Given the description of an element on the screen output the (x, y) to click on. 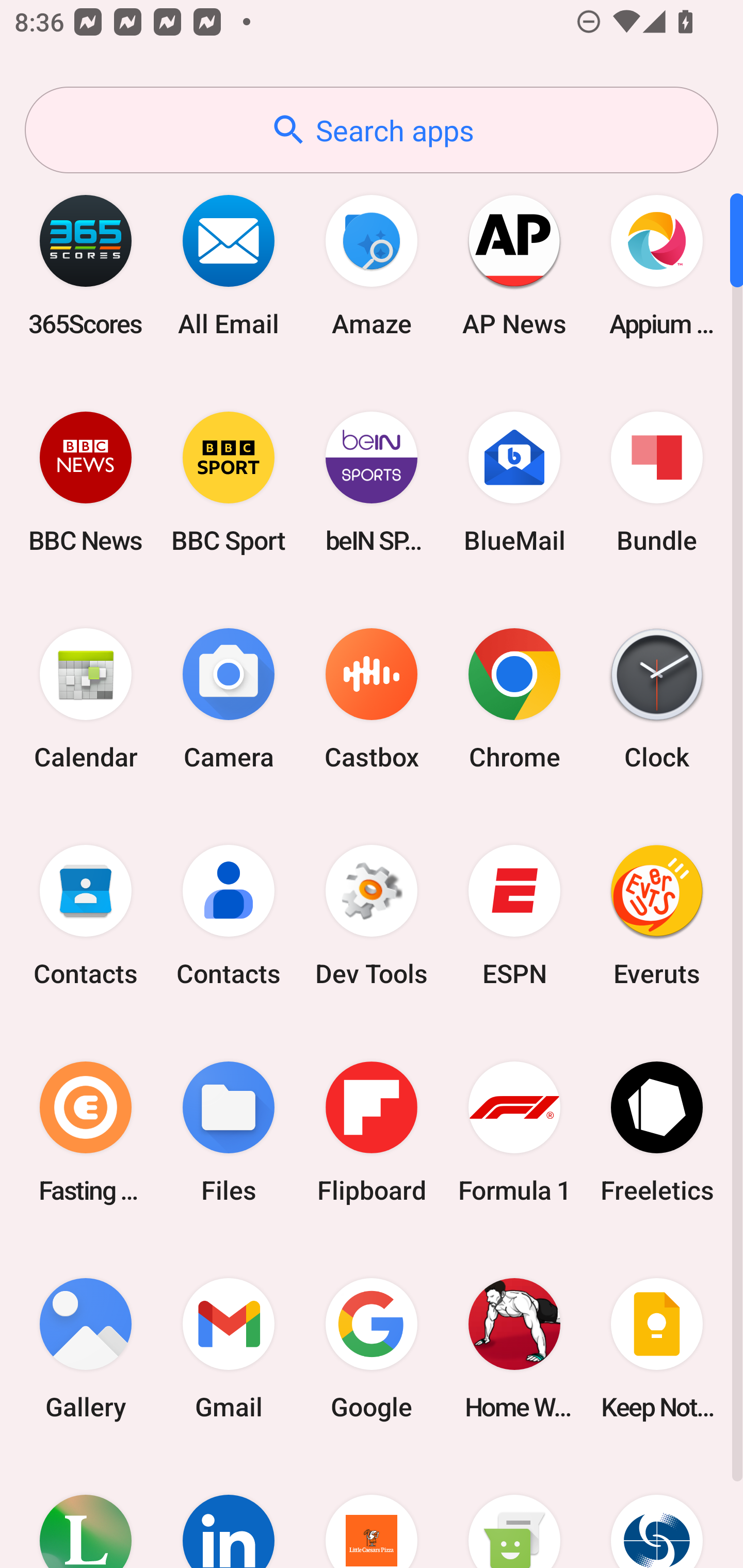
  Search apps (371, 130)
365Scores (85, 264)
All Email (228, 264)
Amaze (371, 264)
AP News (514, 264)
Appium Settings (656, 264)
BBC News (85, 482)
BBC Sport (228, 482)
beIN SPORTS (371, 482)
BlueMail (514, 482)
Bundle (656, 482)
Calendar (85, 699)
Camera (228, 699)
Castbox (371, 699)
Chrome (514, 699)
Clock (656, 699)
Contacts (85, 915)
Contacts (228, 915)
Dev Tools (371, 915)
ESPN (514, 915)
Everuts (656, 915)
Fasting Coach (85, 1131)
Files (228, 1131)
Flipboard (371, 1131)
Formula 1 (514, 1131)
Freeletics (656, 1131)
Gallery (85, 1348)
Gmail (228, 1348)
Google (371, 1348)
Home Workout (514, 1348)
Keep Notes (656, 1348)
